Given the description of an element on the screen output the (x, y) to click on. 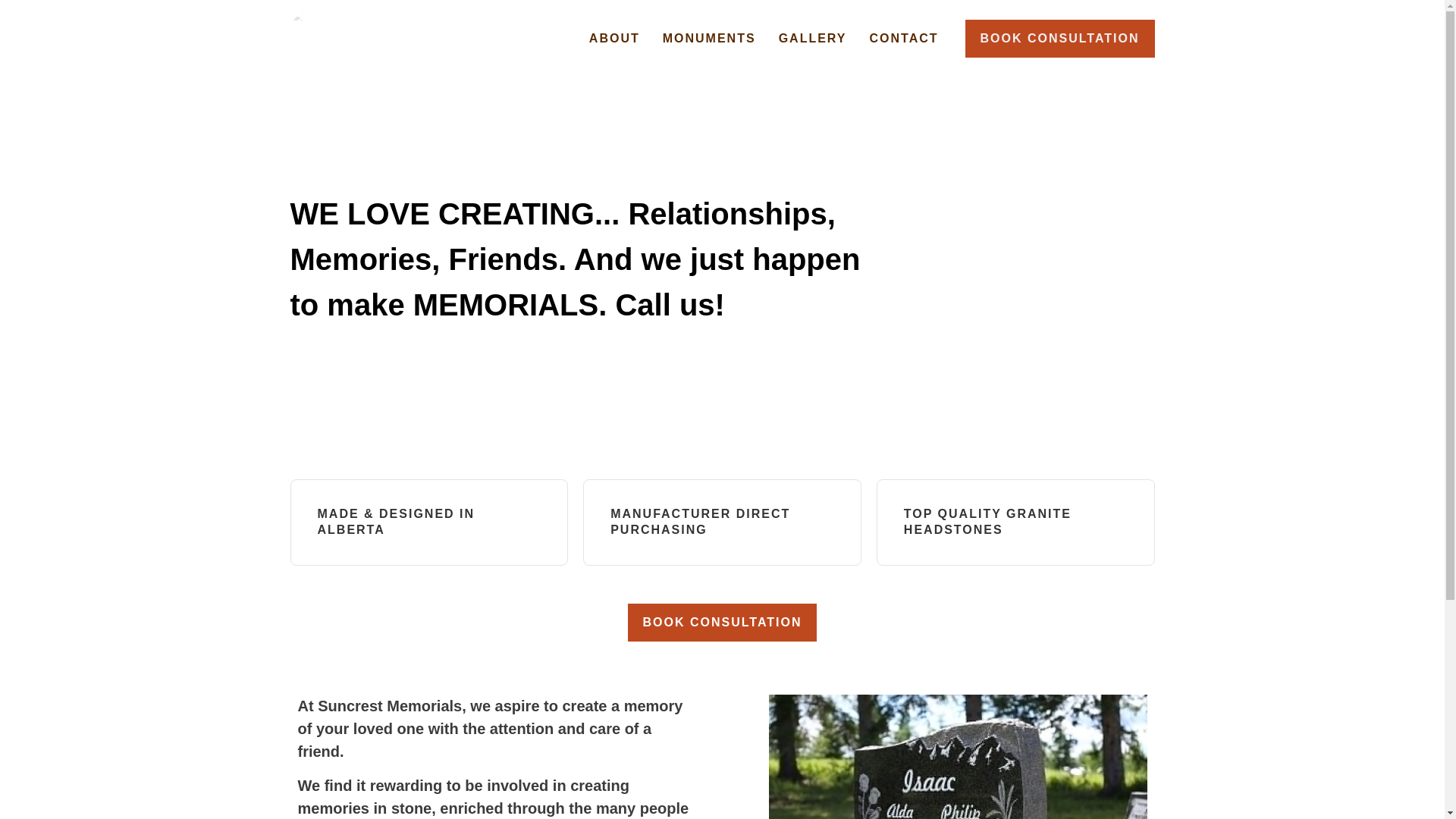
CONTACT (903, 38)
BOOK CONSULTATION (1059, 38)
MONUMENTS (708, 38)
GALLERY (813, 38)
ABOUT (614, 38)
BOOK CONSULTATION (721, 622)
